Given the description of an element on the screen output the (x, y) to click on. 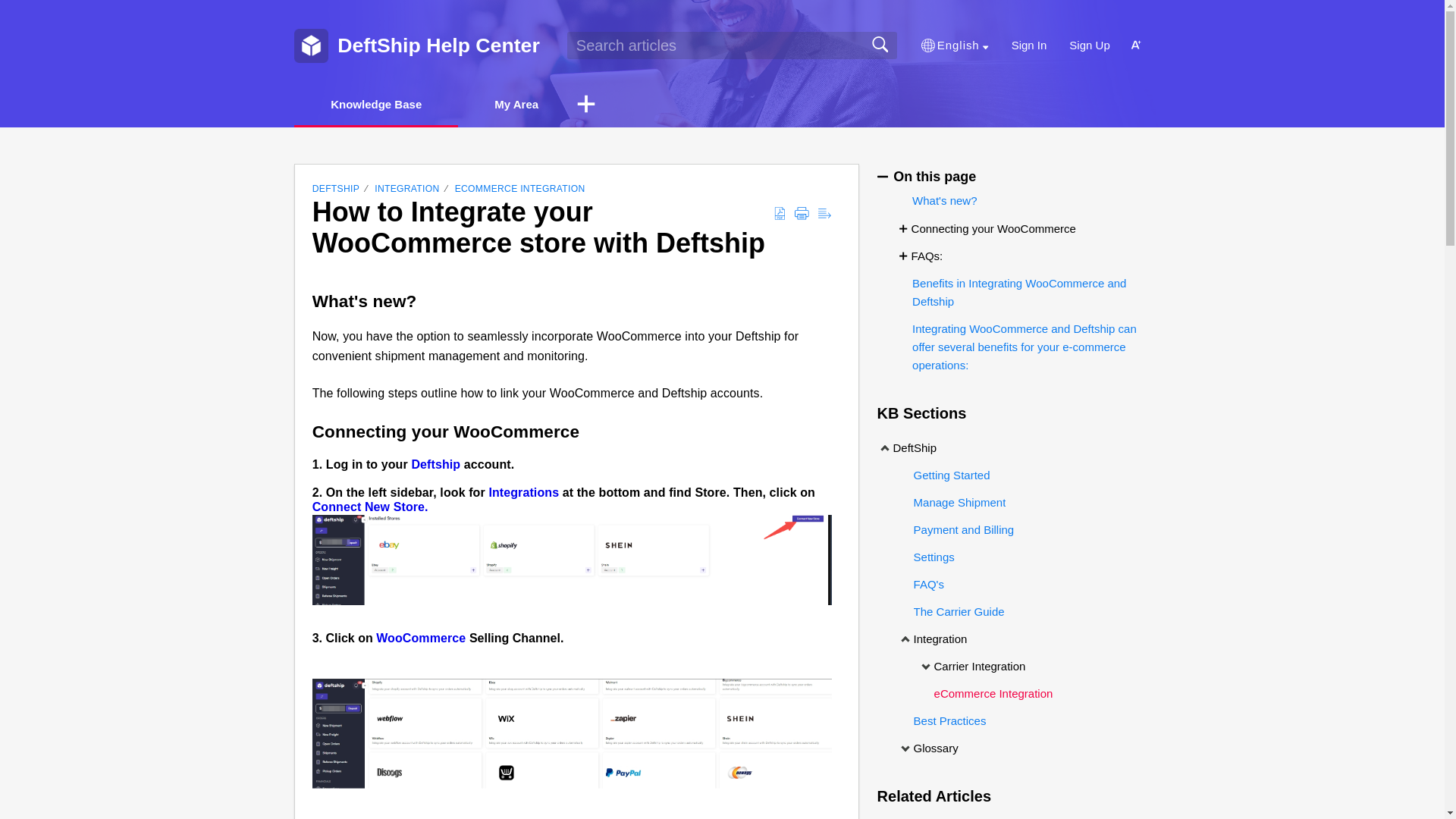
What's new? (941, 200)
INTEGRATION (406, 188)
Integrations  (524, 492)
Search (879, 44)
Settings (934, 556)
English (954, 45)
Getting Started (948, 474)
Sign In (1028, 45)
DeftShip Help Center (438, 45)
